Given the description of an element on the screen output the (x, y) to click on. 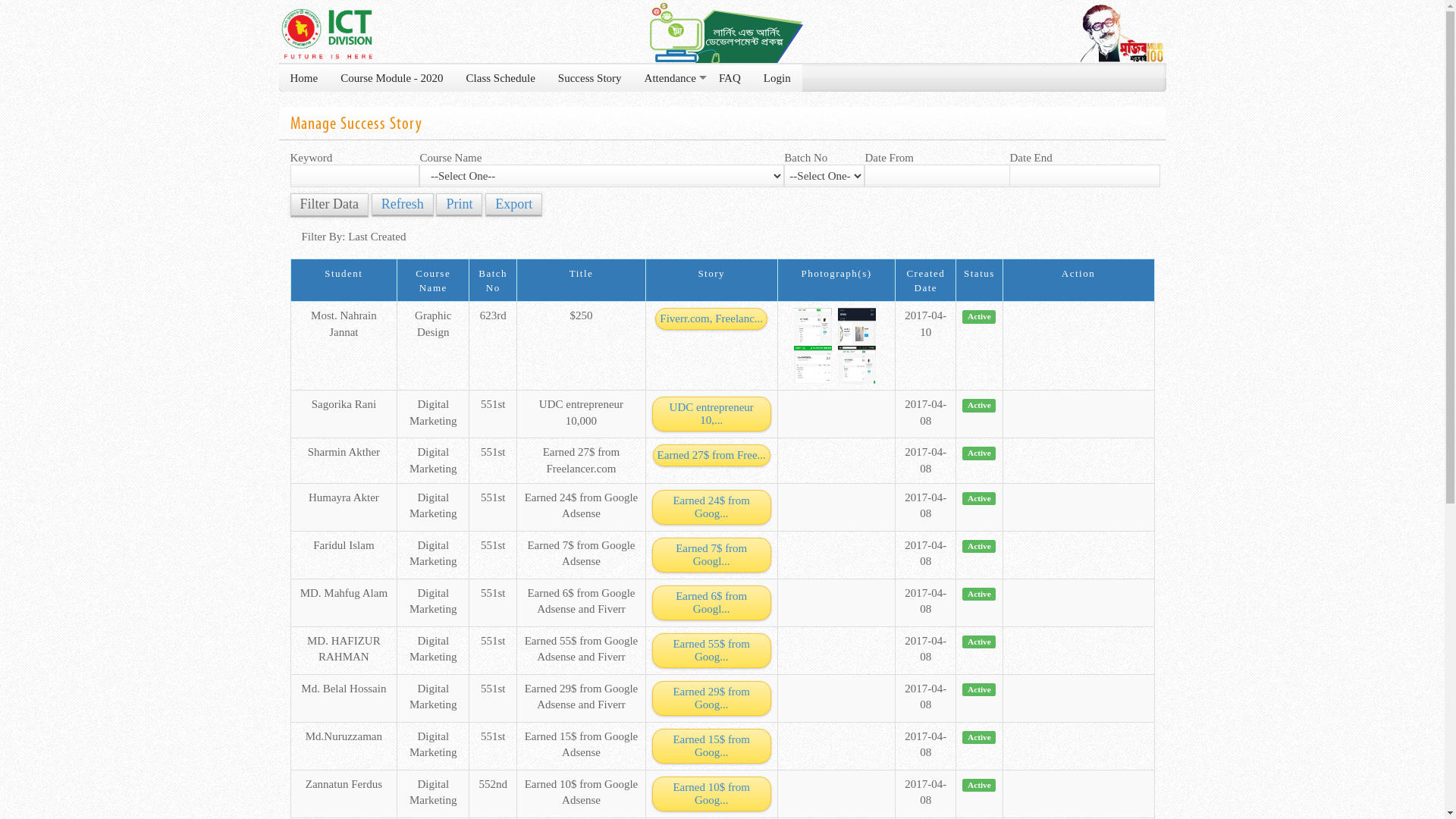
Earned 6$ from Googl... Element type: text (711, 602)
  Element type: text (857, 326)
  Element type: text (857, 363)
Fiverr.com, Freelanc... Element type: text (711, 318)
FAQ Element type: text (729, 77)
UDC entrepreneur 10,... Element type: text (711, 413)
Earned 24$ from Goog... Element type: text (711, 506)
Success Story Element type: text (589, 77)
Class Schedule Element type: text (500, 77)
  Element type: text (815, 326)
Course Module - 2020 Element type: text (391, 77)
Login Element type: text (777, 77)
Earned 27$ from Free... Element type: text (711, 455)
Earned 7$ from Googl... Element type: text (711, 554)
  Element type: text (815, 363)
Home Element type: text (304, 77)
Attendance Element type: text (670, 77)
Earned 10$ from Goog... Element type: text (711, 793)
Refresh Element type: text (402, 204)
Earned 15$ from Goog... Element type: text (711, 745)
Earned 29$ from Goog... Element type: text (711, 697)
Export Element type: text (513, 204)
Earned 55$ from Goog... Element type: text (711, 650)
Filter Data Element type: text (328, 205)
Print Element type: text (459, 204)
